Given the description of an element on the screen output the (x, y) to click on. 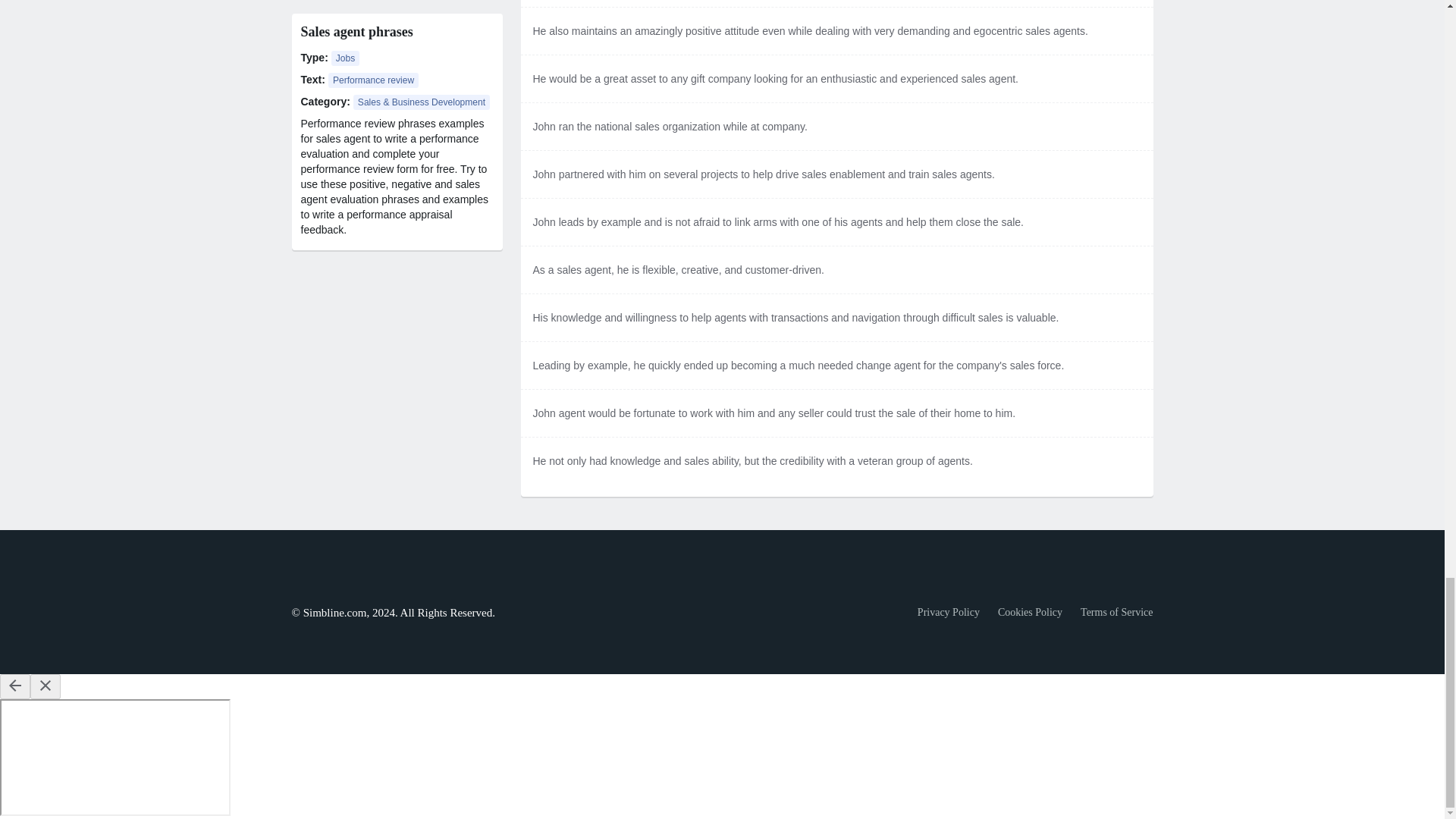
Privacy Policy (948, 611)
Cookies Policy (1029, 611)
Jobs (345, 57)
Terms of Service (1116, 611)
Performance review (374, 79)
